Given the description of an element on the screen output the (x, y) to click on. 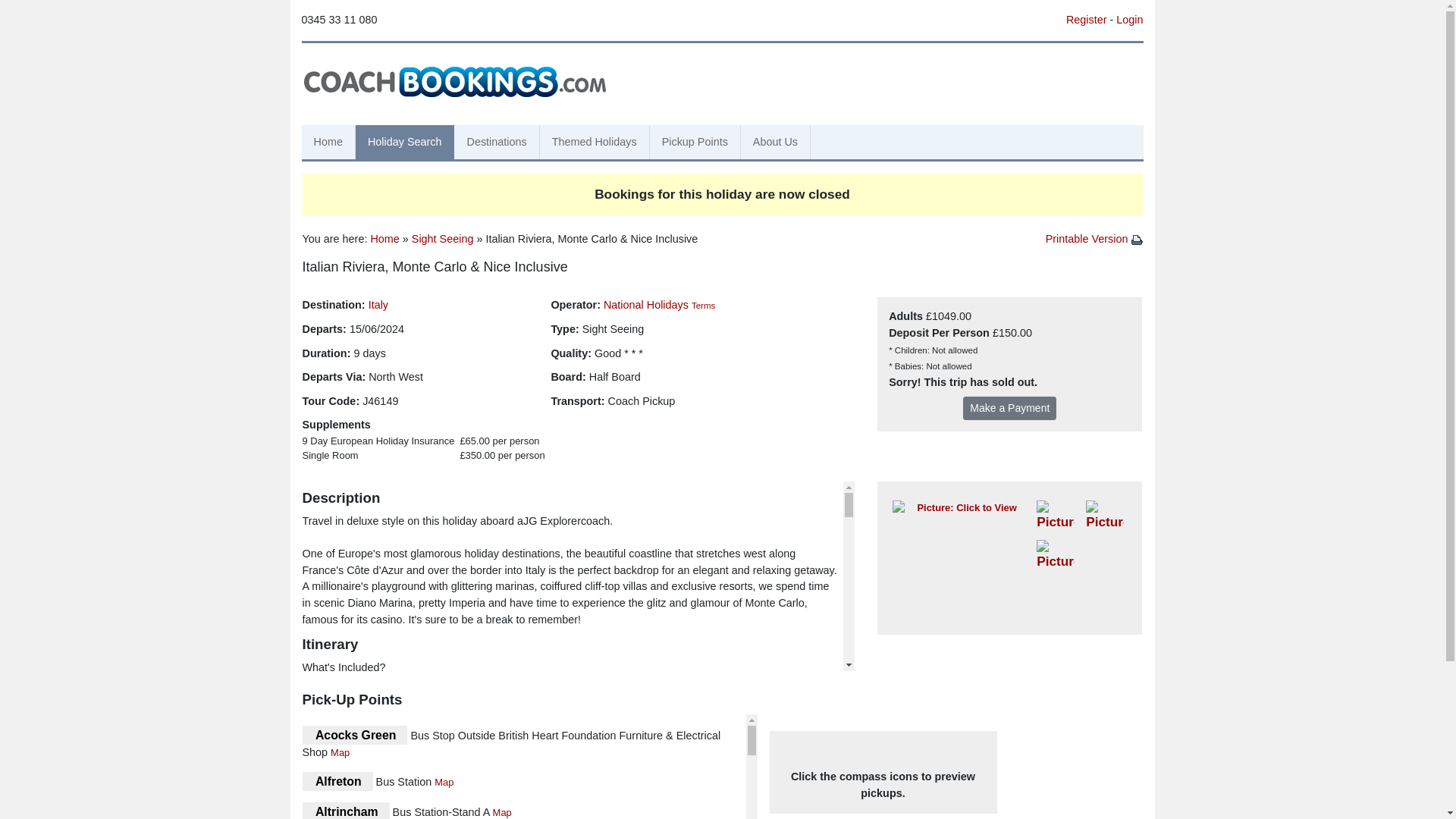
Make a Payment (1009, 408)
Home (328, 142)
Sight Seeing (443, 238)
Holiday Search (404, 142)
Coach Bookings: Home (454, 80)
Pickup Points (695, 142)
Terms (702, 305)
View Operator Information (646, 304)
Sight Seeing (443, 238)
Map (450, 781)
